Given the description of an element on the screen output the (x, y) to click on. 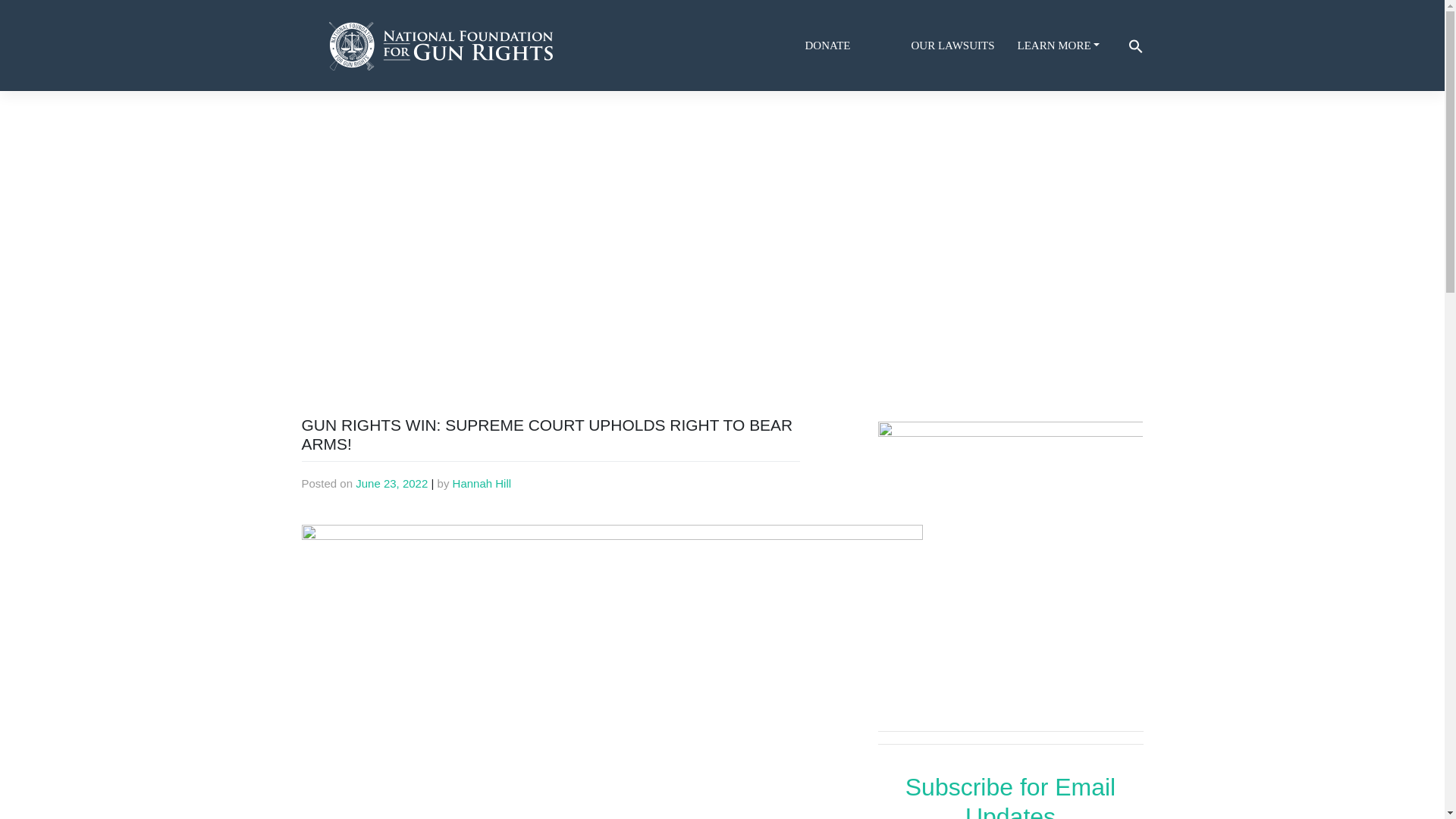
Our Lawsuits (958, 45)
Donate (852, 45)
DONATE (852, 45)
OUR LAWSUITS (958, 45)
Learn More (1064, 45)
June 23, 2022 (391, 482)
LEARN MORE (1064, 45)
Hannah Hill (482, 482)
